Given the description of an element on the screen output the (x, y) to click on. 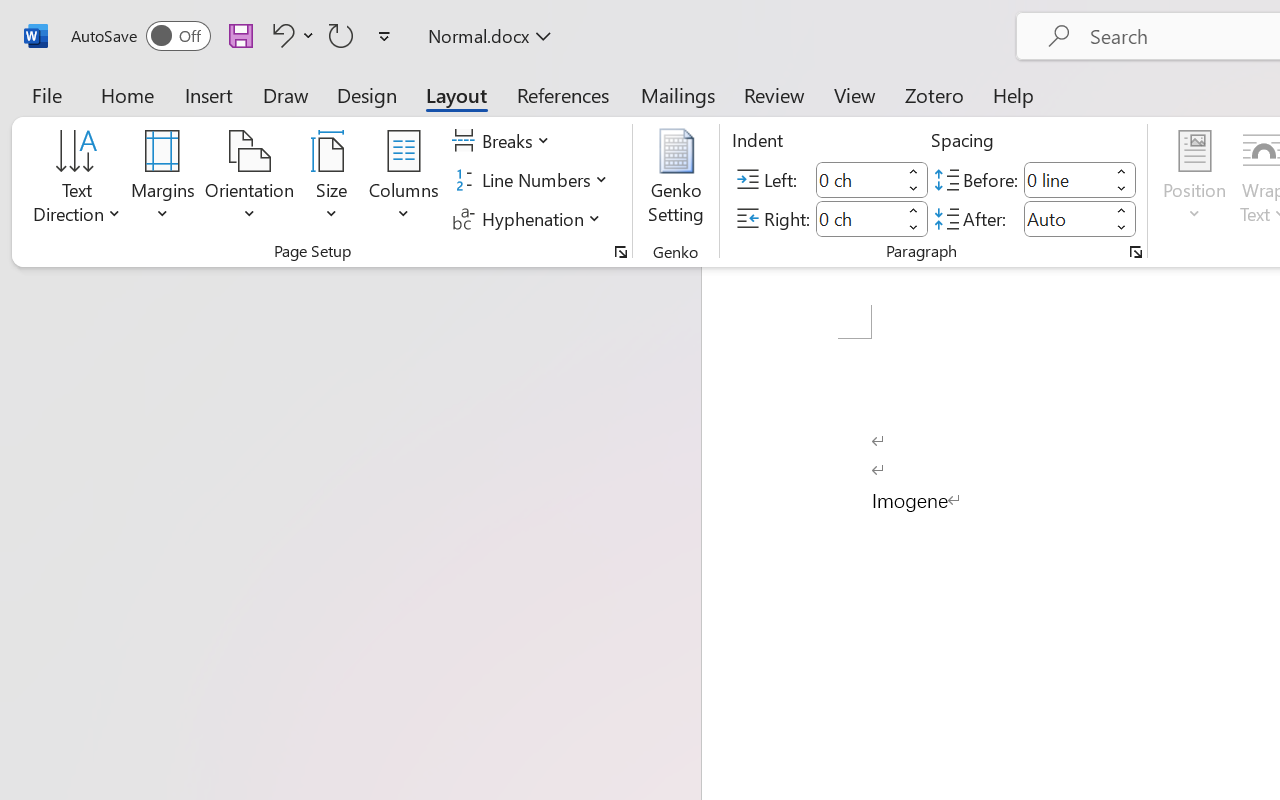
Line Numbers (532, 179)
Paragraph... (1135, 252)
Text Direction (77, 179)
Undo Paragraph Formatting (280, 35)
Less (1121, 227)
More (1121, 210)
Margins (163, 179)
Repeat Paragraph Formatting (341, 35)
Indent Left (858, 179)
